Given the description of an element on the screen output the (x, y) to click on. 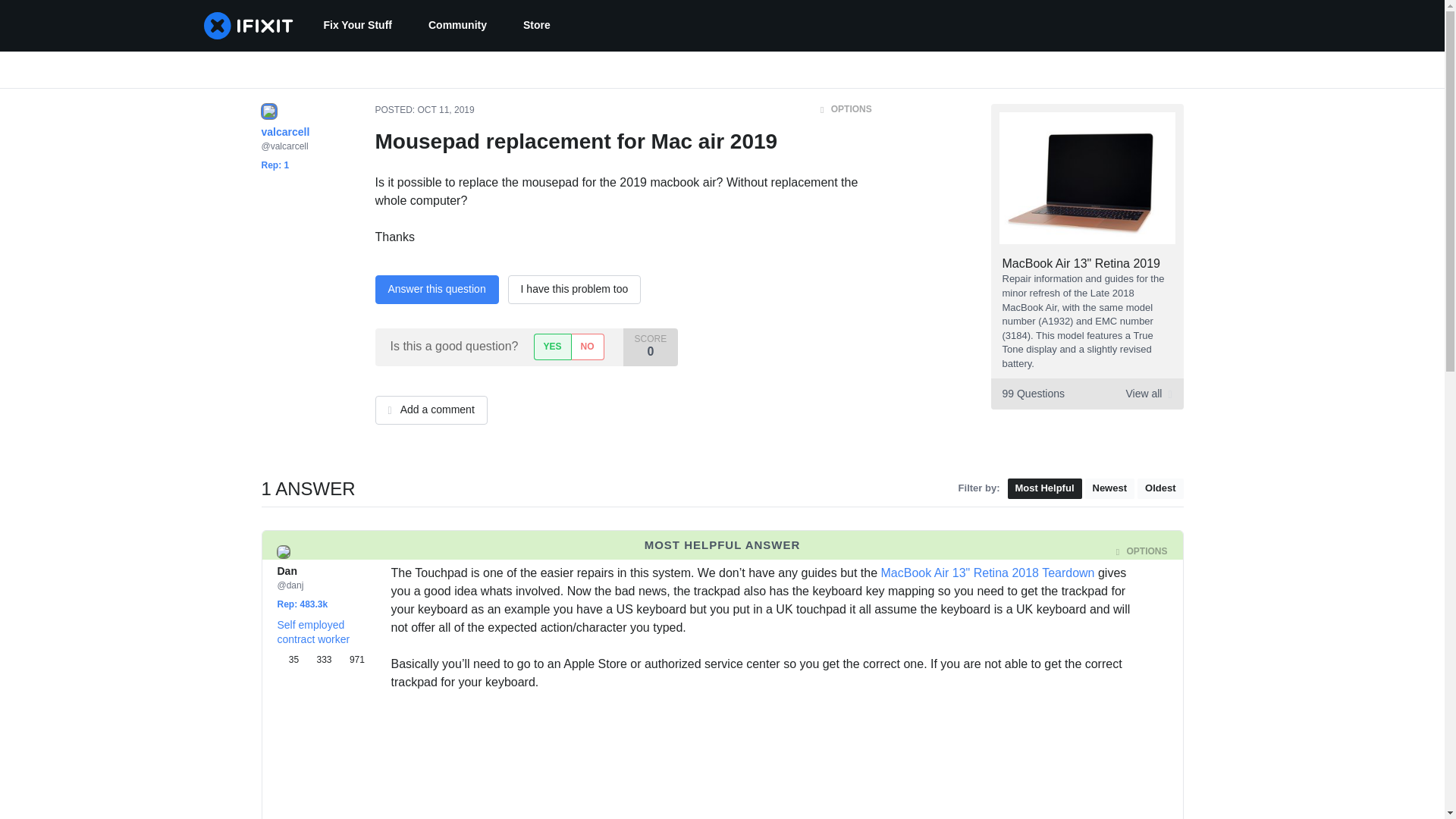
POSTED: OCT 11, 2019 (424, 109)
Fri, 11 Oct 2019 13:37:03 -0700 (461, 552)
971 Gold badges (351, 659)
35 Bronze badges (291, 659)
MacBook Air 13" Retina 2018 Teardown (987, 572)
Fix Your Stuff (356, 25)
MacBook Air 13" Retina 2019 (1081, 263)
Store (537, 25)
333 Silver badges (320, 659)
35 333 971 (321, 659)
